Given the description of an element on the screen output the (x, y) to click on. 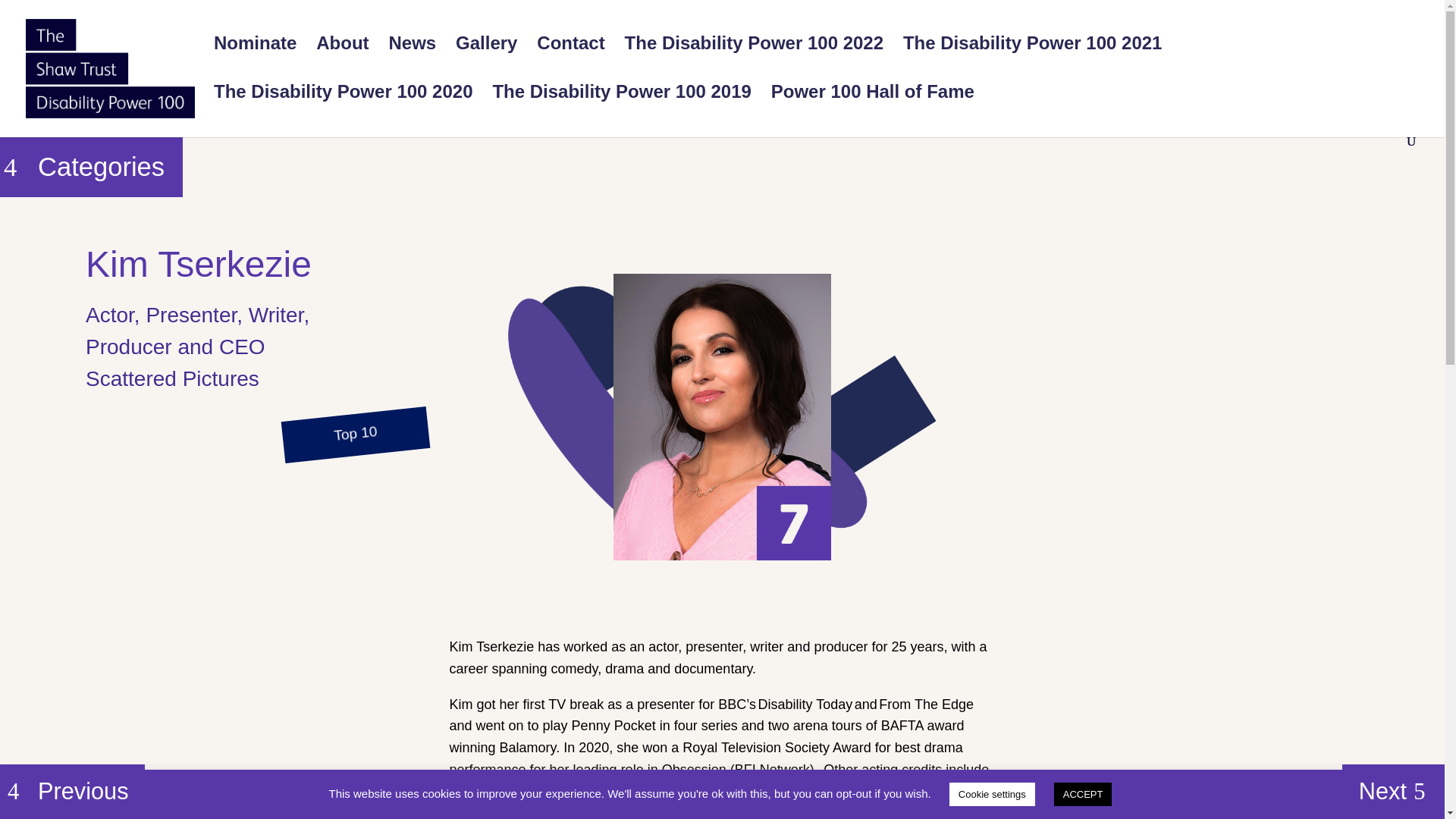
News (411, 61)
The Disability Power 100 2019 (621, 110)
The Disability Power 100 2022 (753, 61)
Nominate (255, 61)
About (341, 61)
The Disability Power 100 2021 (1031, 61)
Power 100 Hall of Fame (872, 110)
The Disability Power 100 2020 (343, 110)
Gallery (485, 61)
Categories (83, 163)
Categories (91, 167)
Contact (570, 61)
Previous (72, 791)
